Given the description of an element on the screen output the (x, y) to click on. 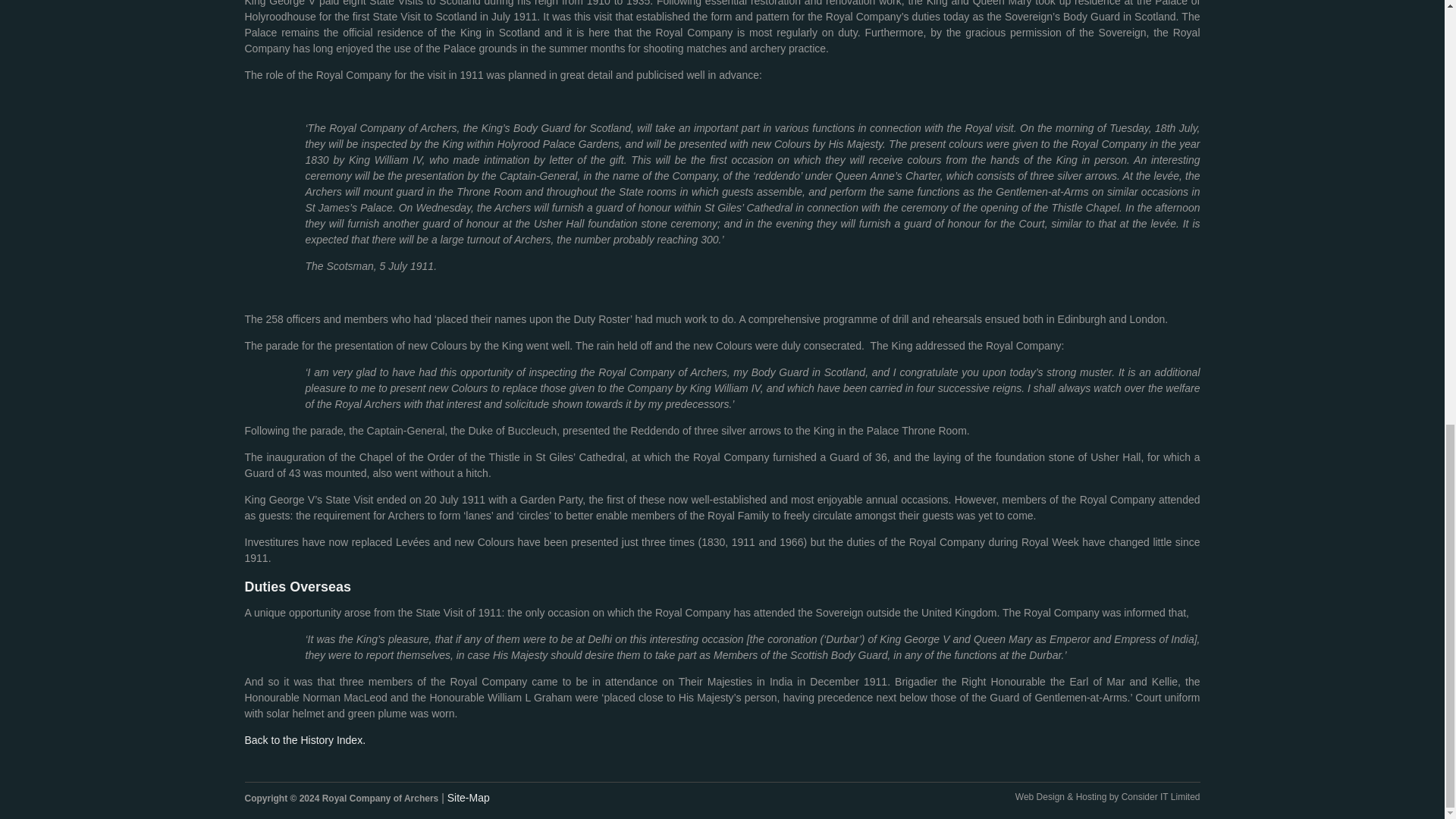
Back to the History Index. (304, 739)
Site-Map (467, 797)
